Given the description of an element on the screen output the (x, y) to click on. 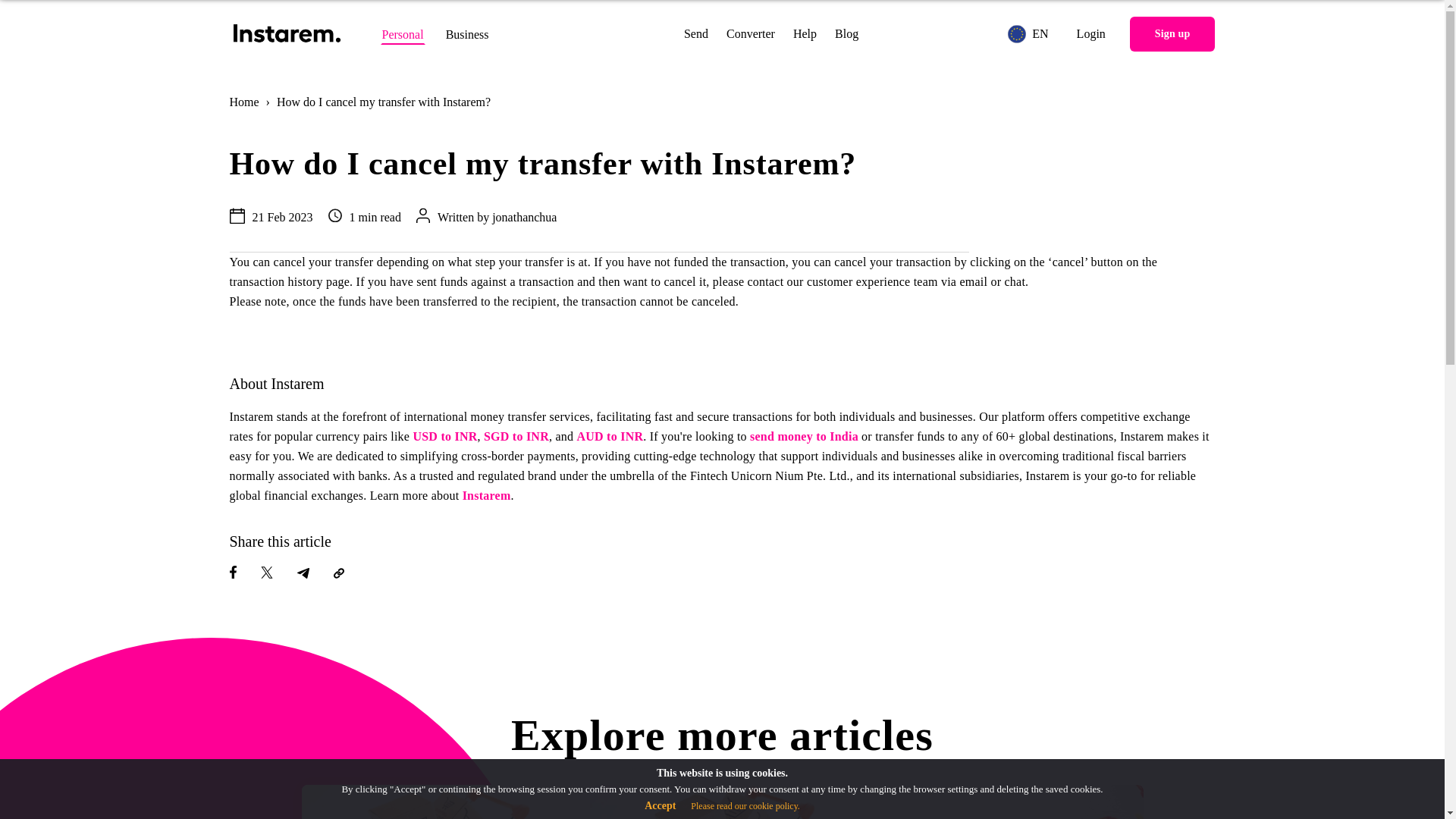
send money to India (804, 436)
Converter (750, 33)
Personal (402, 34)
Help (804, 33)
Login (1091, 33)
Business (467, 34)
AUD to INR (609, 436)
Send (695, 33)
USD to INR (444, 436)
Instarem (487, 495)
Home (243, 101)
Sign up (1172, 33)
SGD to INR (515, 436)
Blog (846, 33)
